Given the description of an element on the screen output the (x, y) to click on. 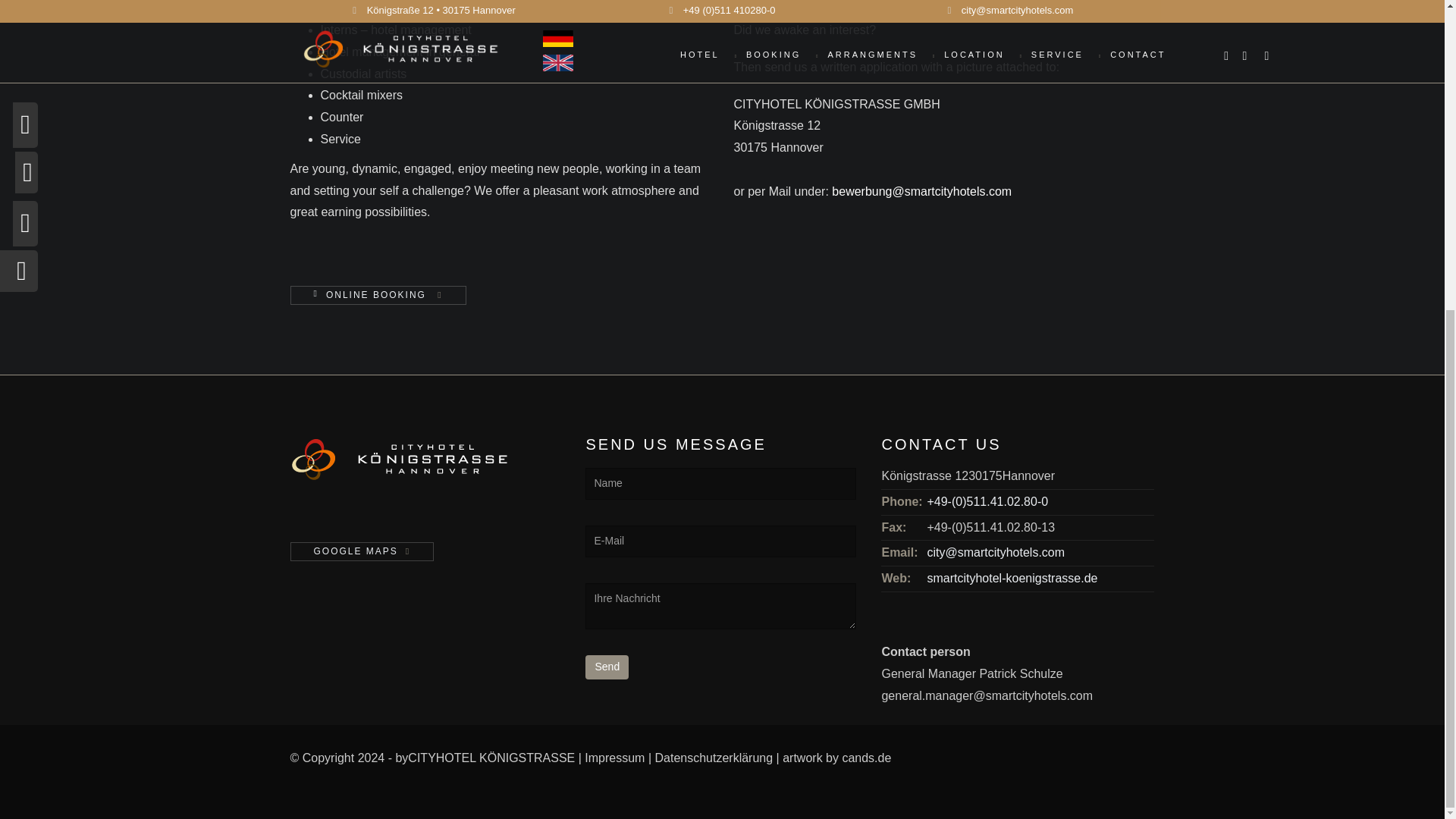
ONLINE BOOKING (376, 294)
Impressum (615, 757)
Send (606, 667)
GOOGLE MAPS (361, 551)
cands.de (866, 757)
smartcityhotel-koenigstrasse.de (1011, 577)
